Given the description of an element on the screen output the (x, y) to click on. 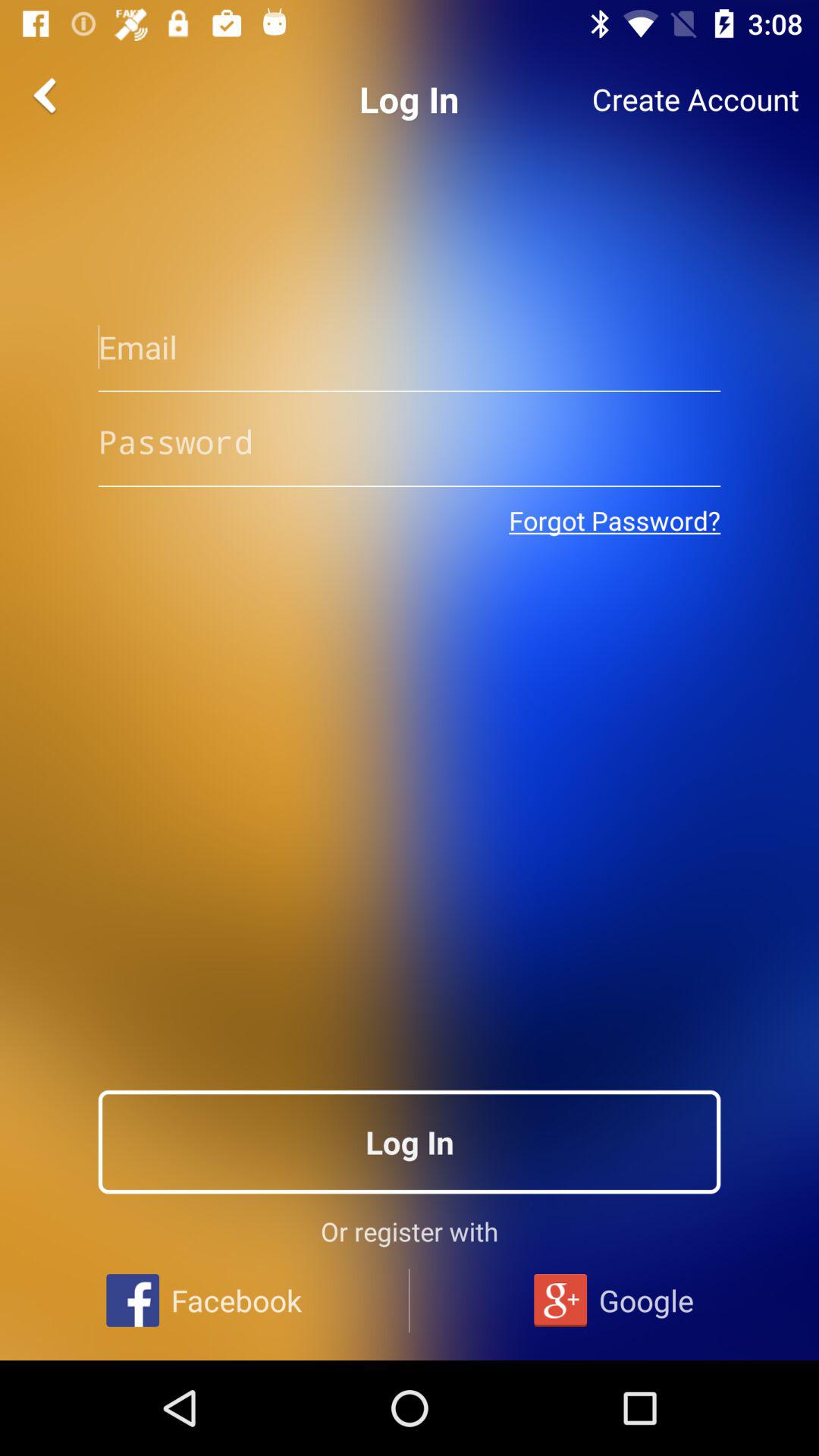
password (409, 441)
